Given the description of an element on the screen output the (x, y) to click on. 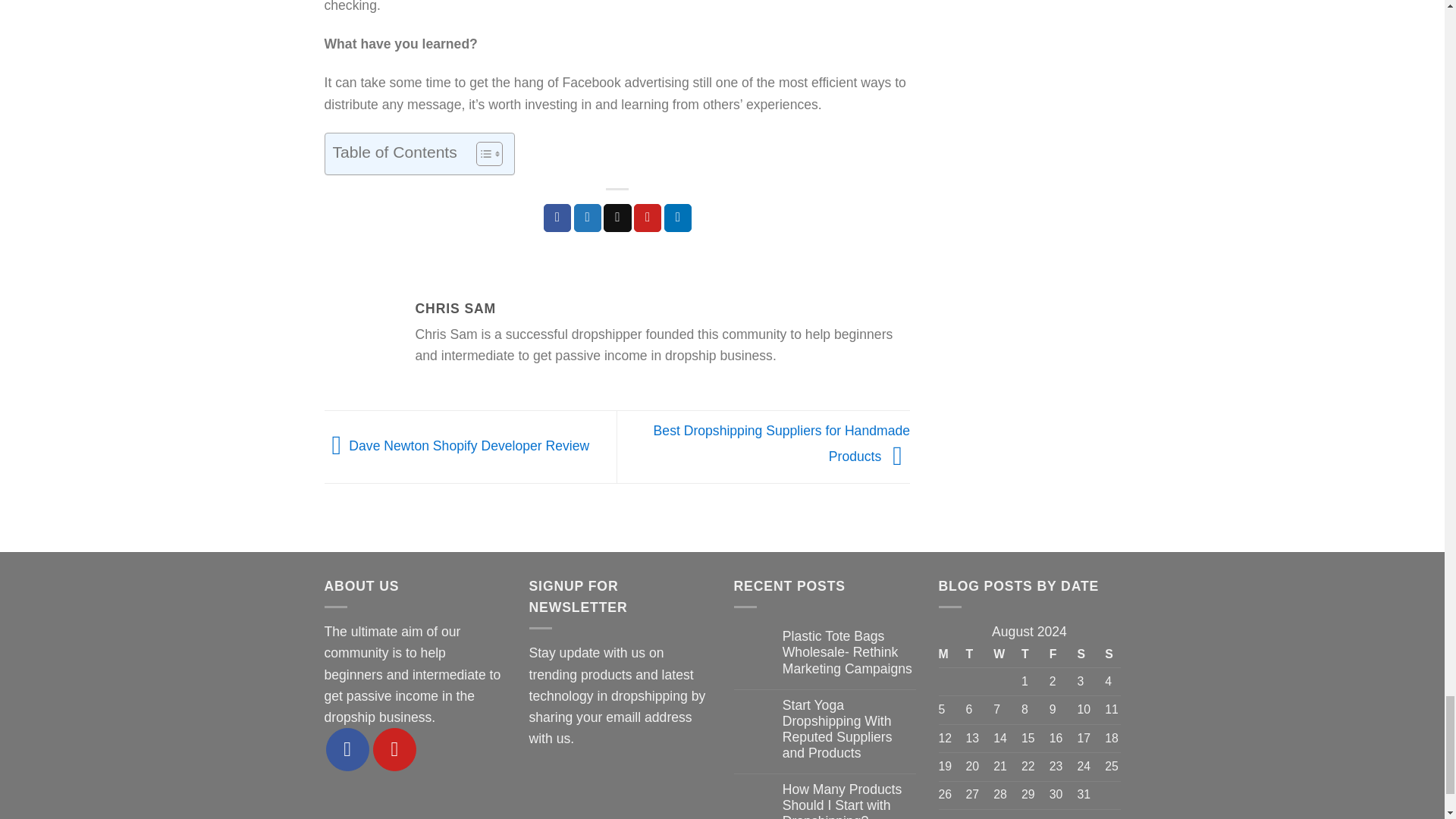
Email to a Friend (617, 217)
Pin on Pinterest (647, 217)
Share on Facebook (556, 217)
Share on Twitter (587, 217)
Share on LinkedIn (677, 217)
